Given the description of an element on the screen output the (x, y) to click on. 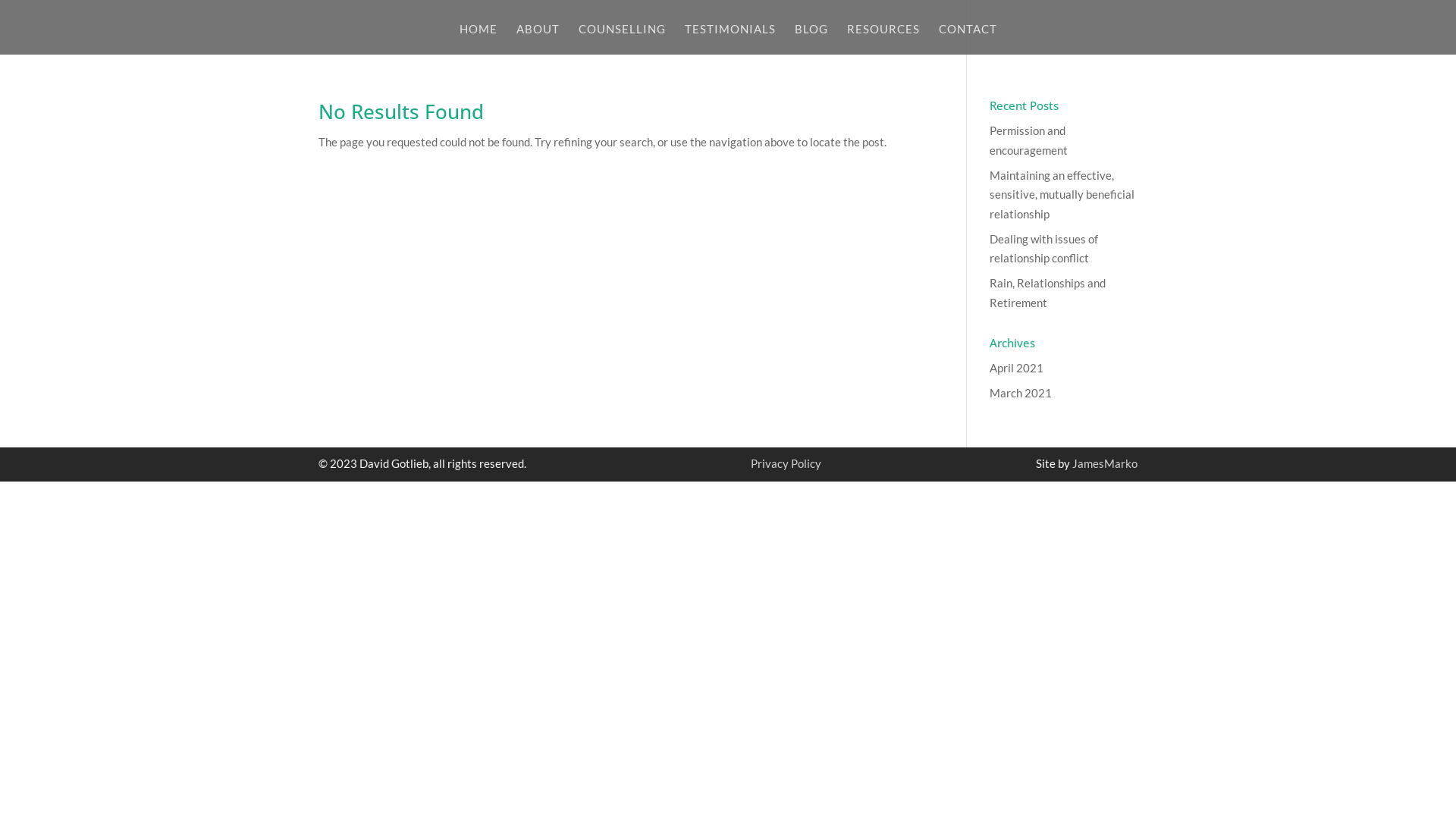
COUNSELLING Element type: text (621, 38)
RESOURCES Element type: text (882, 38)
Permission and encouragement Element type: text (1028, 139)
TESTIMONIALS Element type: text (729, 38)
CONTACT Element type: text (967, 38)
ABOUT Element type: text (536, 38)
March 2021 Element type: text (1020, 392)
Dealing with issues of relationship conflict Element type: text (1043, 248)
HOME Element type: text (478, 38)
BLOG Element type: text (811, 38)
April 2021 Element type: text (1016, 367)
Rain, Relationships and Retirement Element type: text (1047, 292)
Privacy Policy Element type: text (785, 463)
JamesMarko Element type: text (1104, 463)
